Given the description of an element on the screen output the (x, y) to click on. 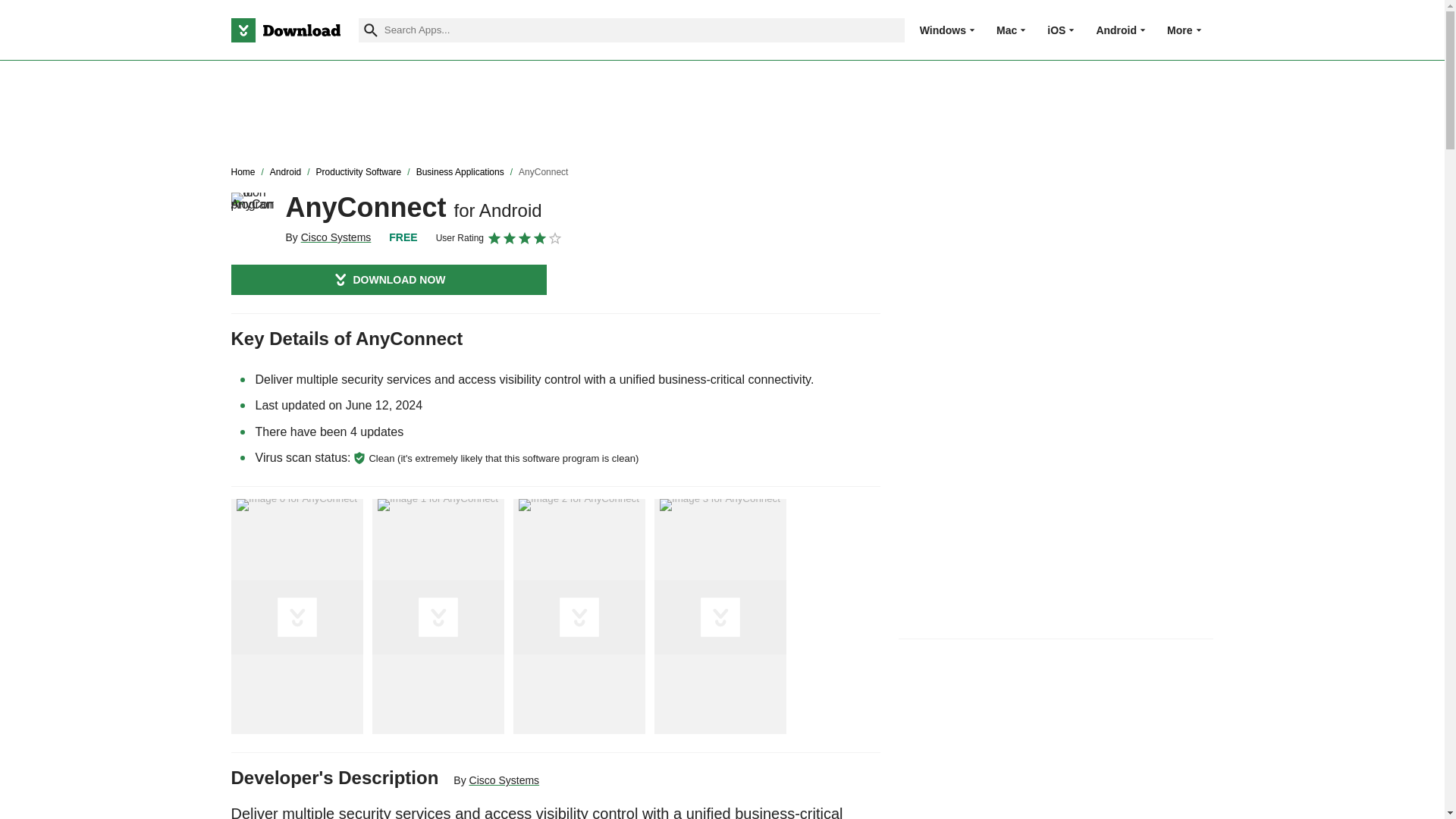
AnyConnect for Android (251, 213)
Windows (943, 29)
Mac (1005, 29)
